Given the description of an element on the screen output the (x, y) to click on. 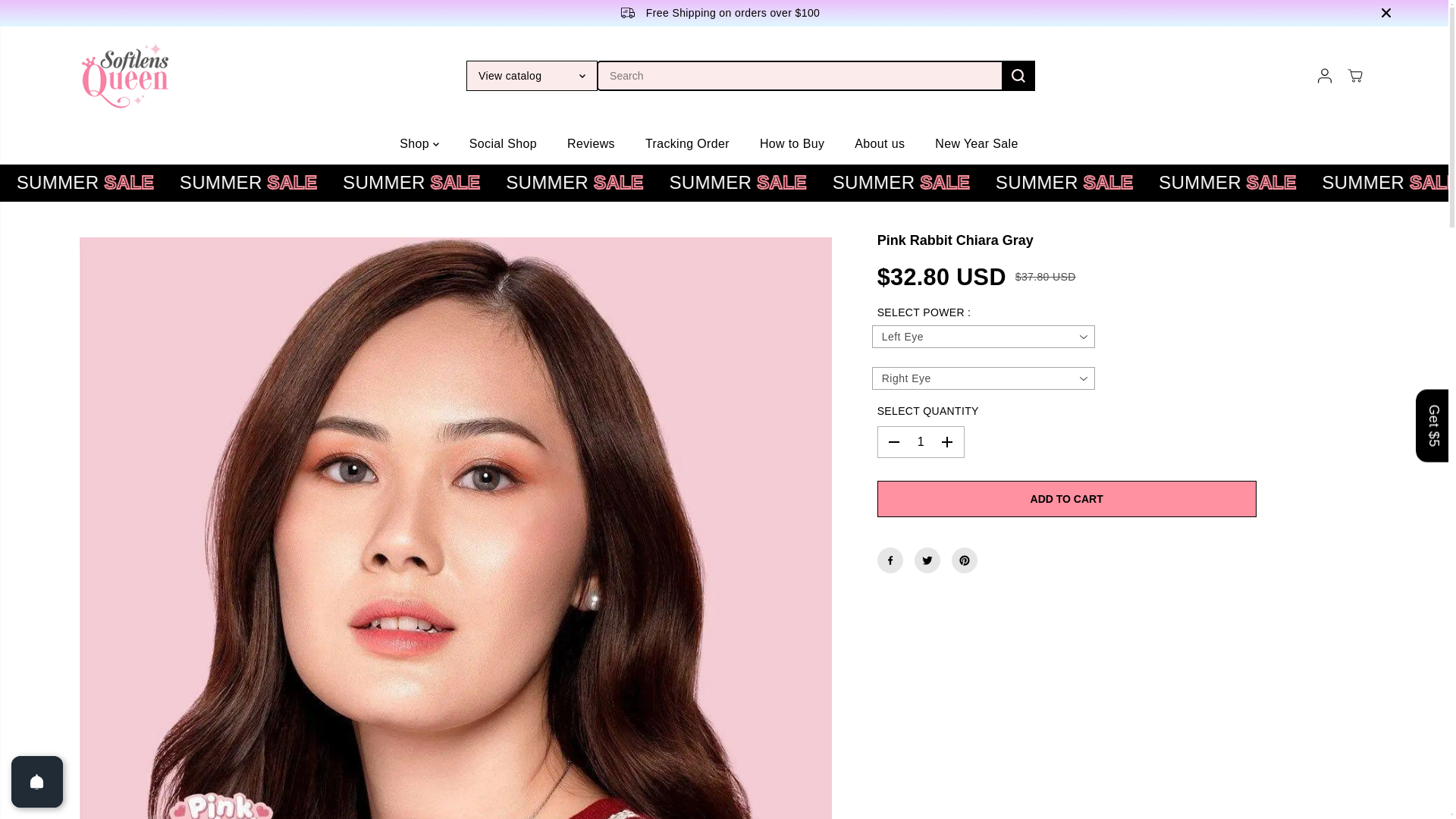
All collections (971, 181)
All collections (27, 181)
All collections (478, 181)
1 (920, 441)
All collections (642, 181)
Cart (1354, 75)
Log in (1324, 75)
SKIP TO CONTENT (60, 18)
All collections (807, 181)
All collections (315, 181)
View catalog (530, 75)
All collections (150, 181)
All collections (1134, 181)
